Given the description of an element on the screen output the (x, y) to click on. 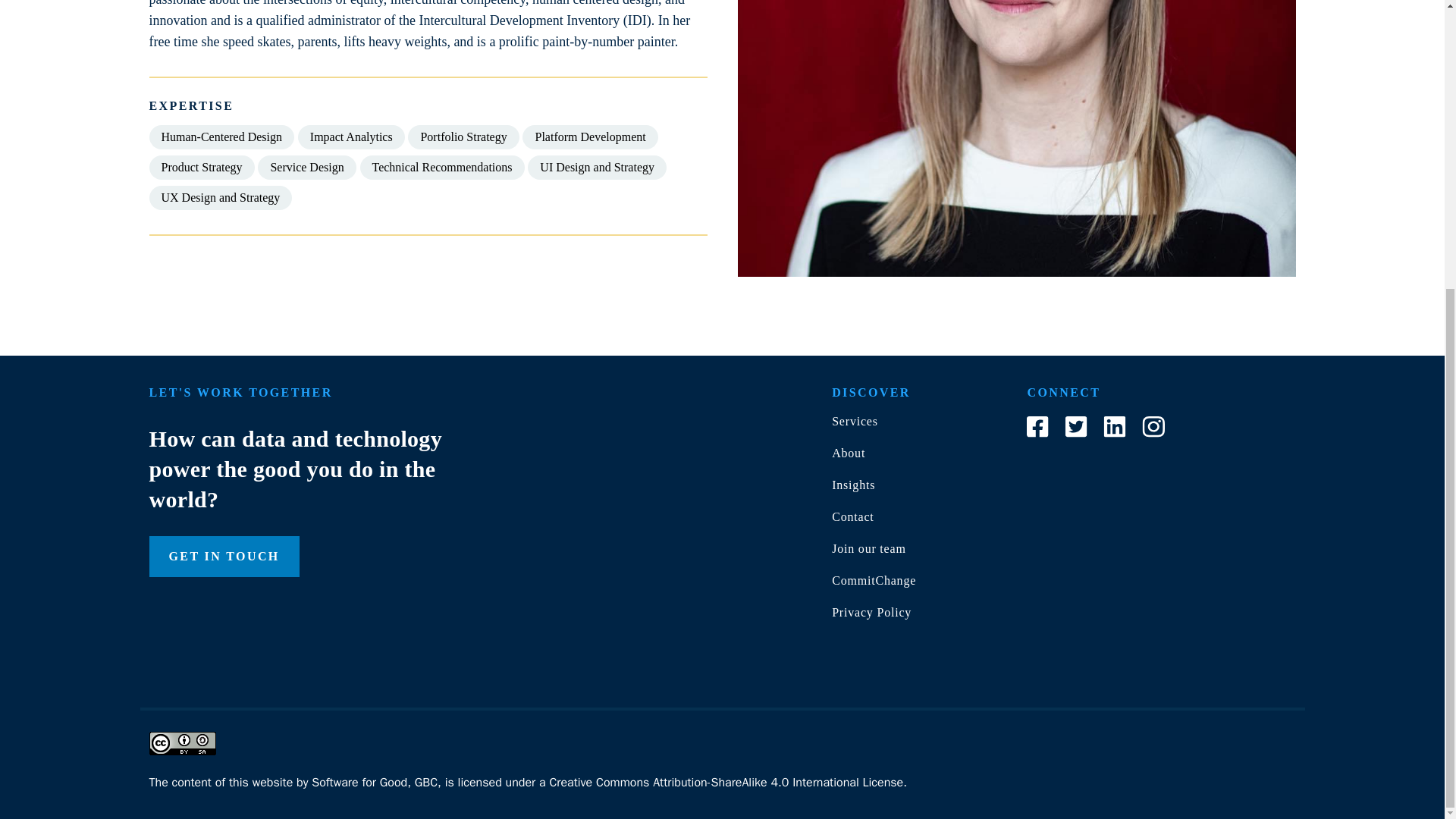
Privacy Policy (871, 612)
GET IN TOUCH (223, 556)
Join our team (868, 548)
Services (854, 420)
About (847, 452)
CommitChange (873, 580)
Contact (852, 516)
Insights (853, 484)
Software for Good, GBC, (376, 782)
